Given the description of an element on the screen output the (x, y) to click on. 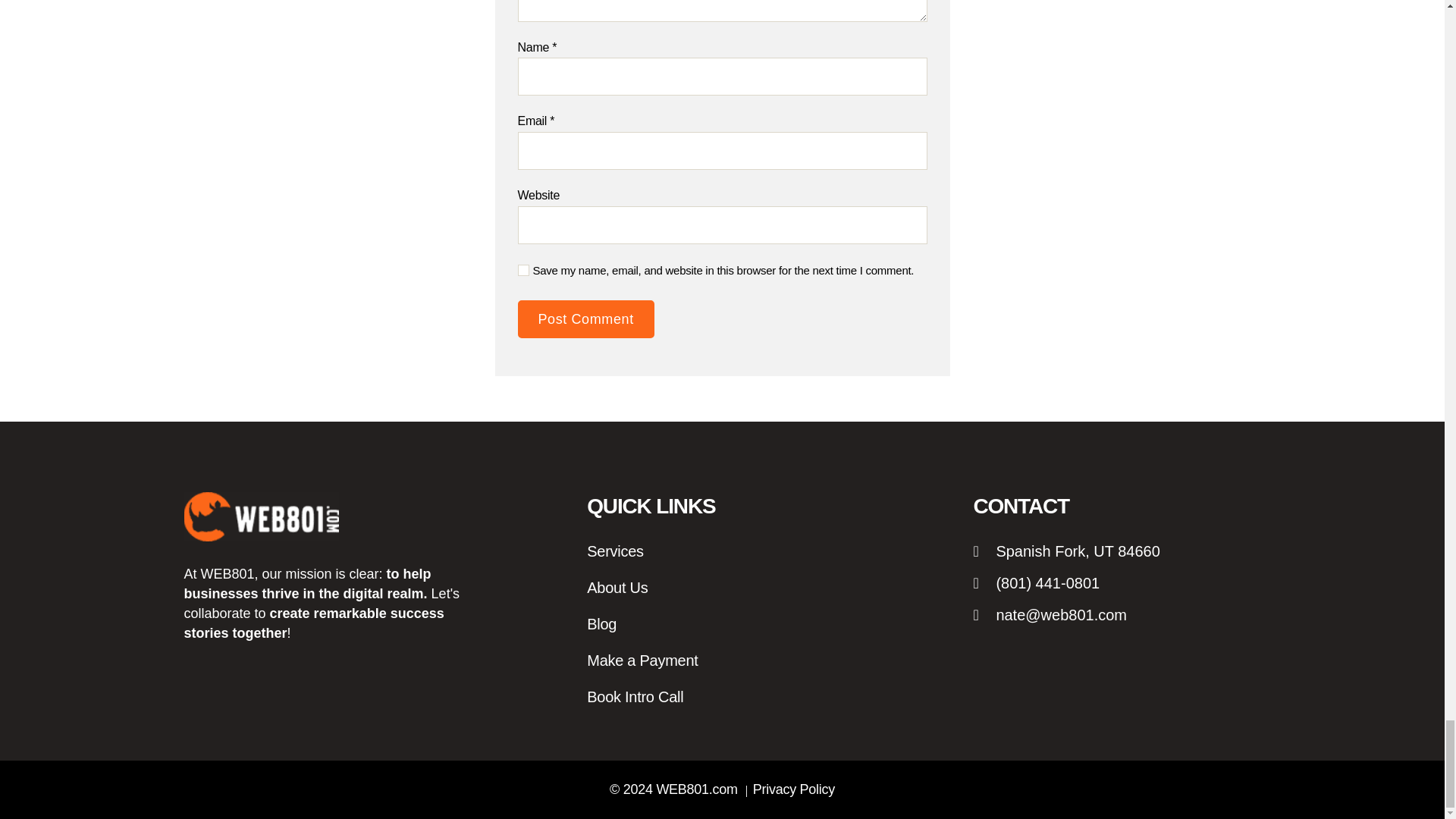
yes (522, 270)
Post Comment (584, 319)
